Given the description of an element on the screen output the (x, y) to click on. 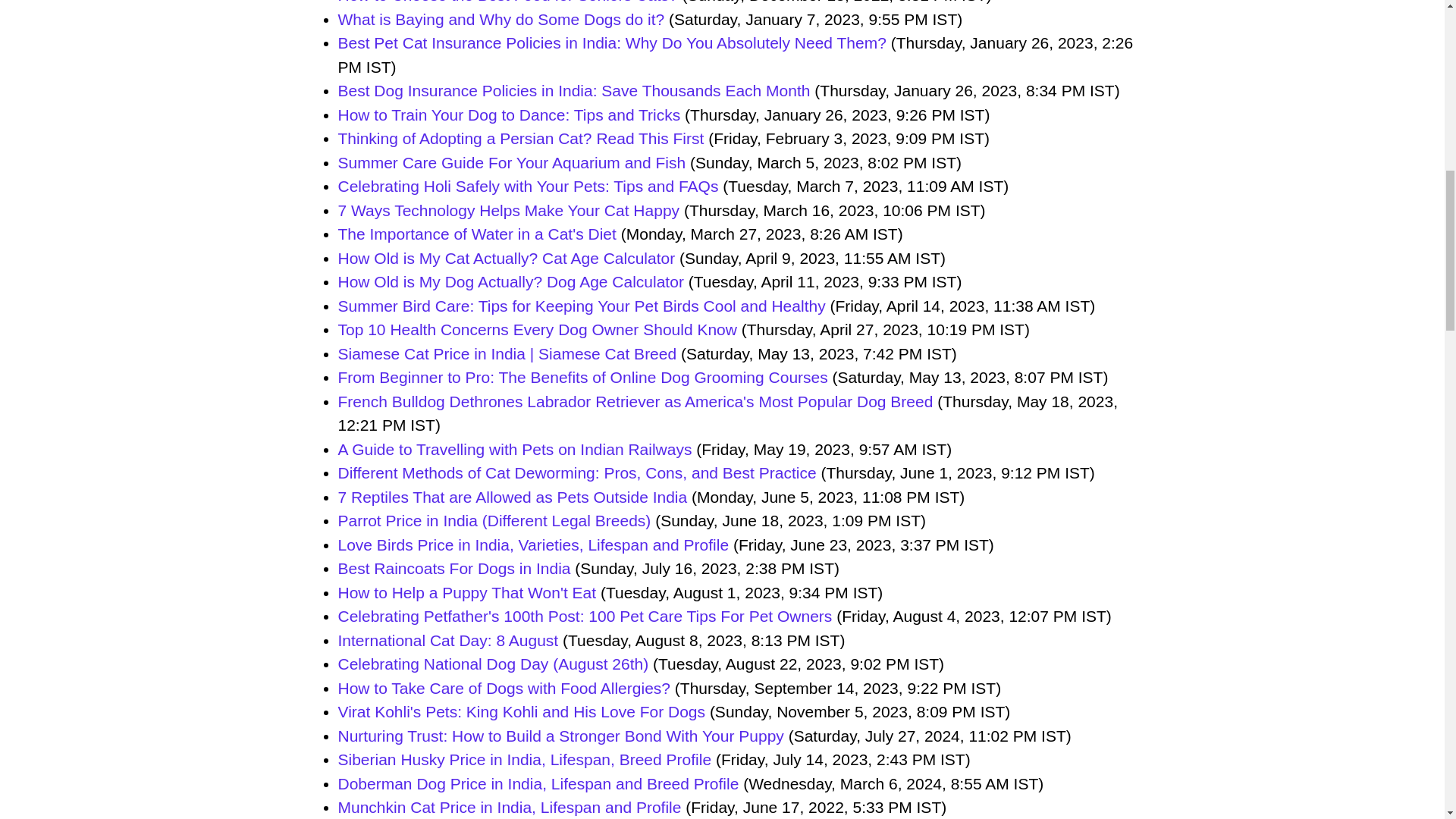
Scroll back to top (1406, 720)
How to Train Your Dog to Dance: Tips and Tricks (509, 114)
Thinking of Adopting a Persian Cat? Read This First (520, 138)
What is Baying and Why do Some Dogs do it? (501, 18)
How to Choose the Best Food for Seniors Cats? (507, 2)
